Given the description of an element on the screen output the (x, y) to click on. 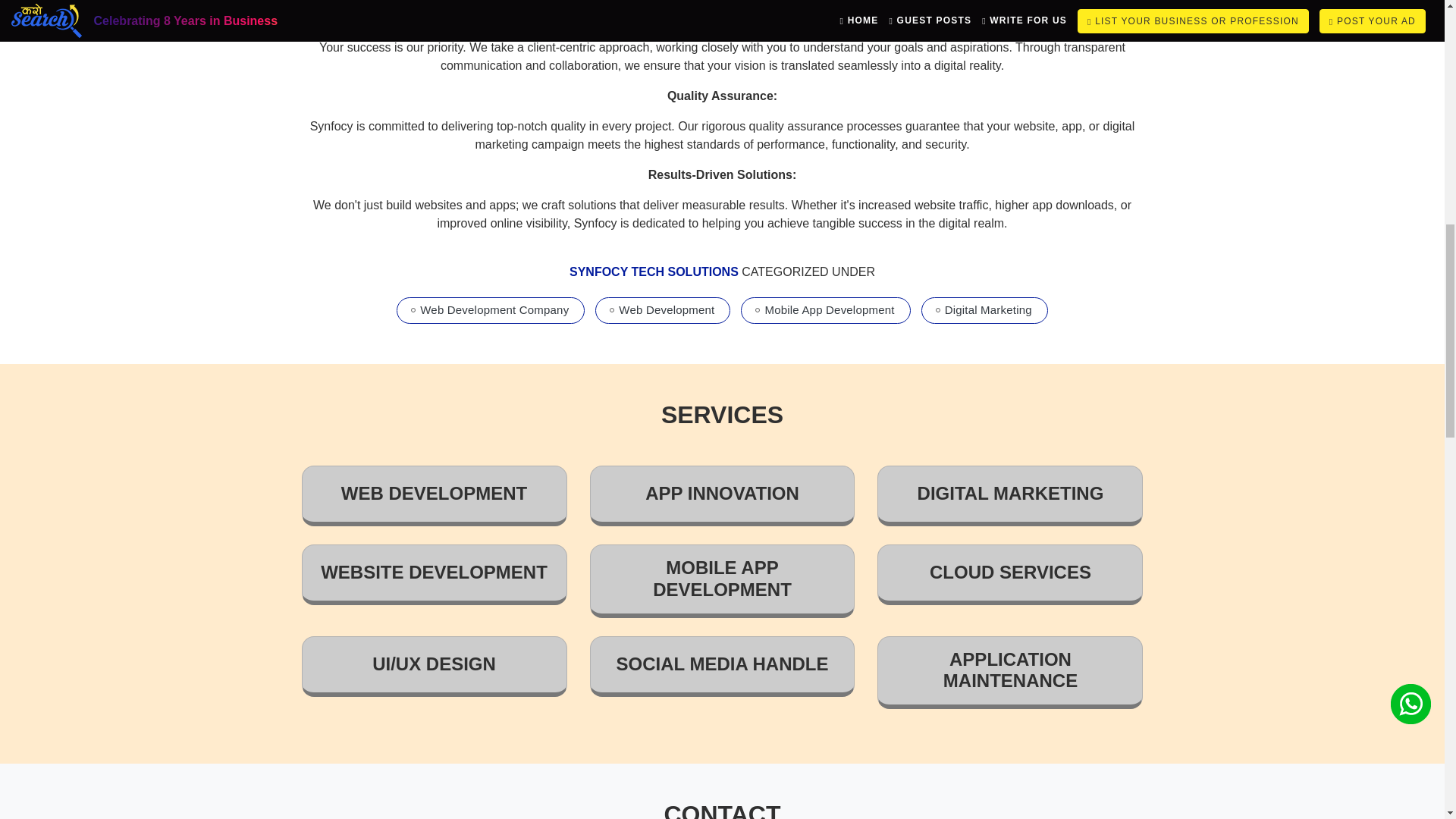
Web Development (666, 309)
Digital Marketing (988, 309)
Mobile App Development (828, 309)
Web Development Company (494, 309)
